Given the description of an element on the screen output the (x, y) to click on. 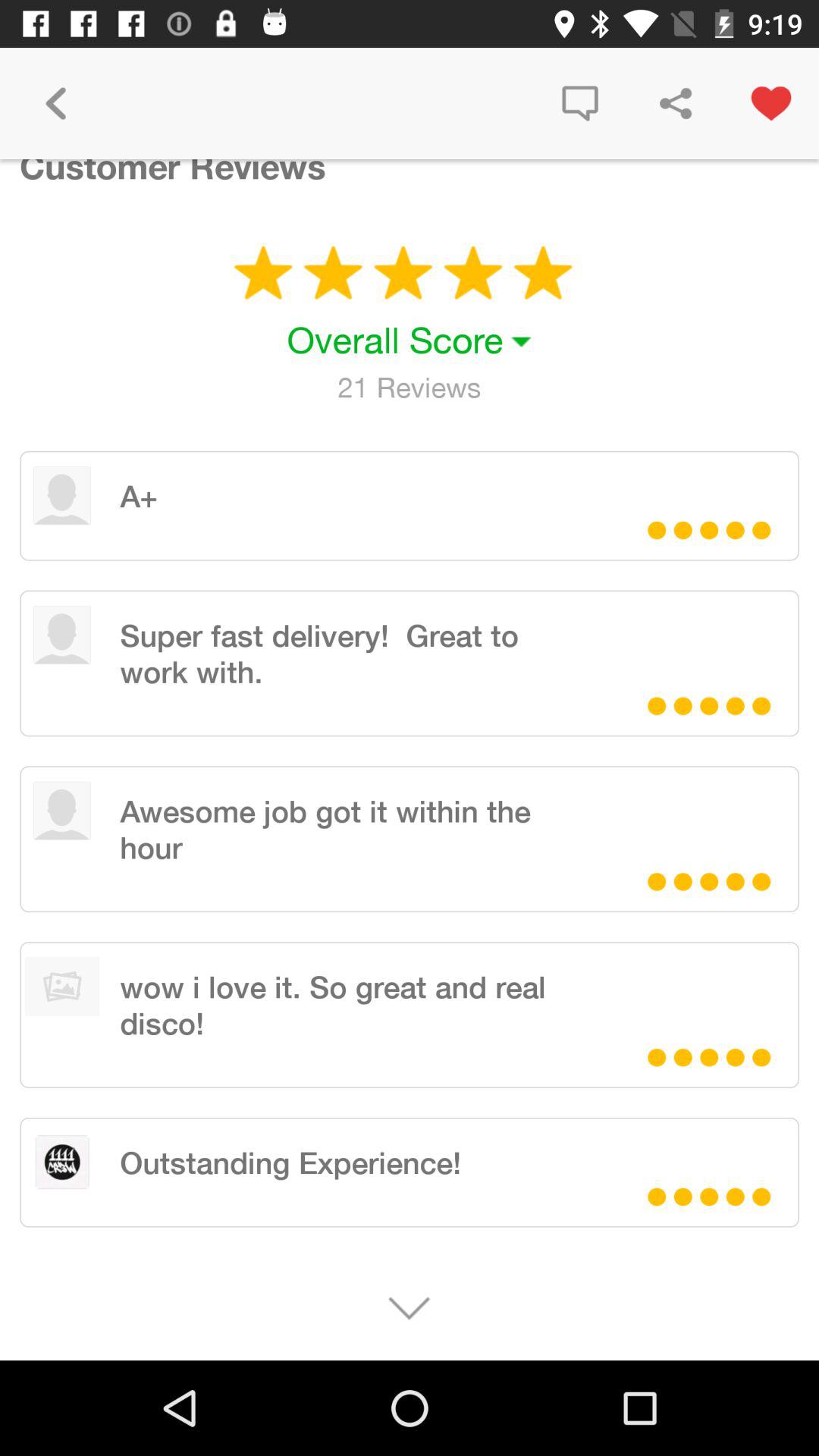
launch the icon above the customer reviews icon (55, 103)
